Given the description of an element on the screen output the (x, y) to click on. 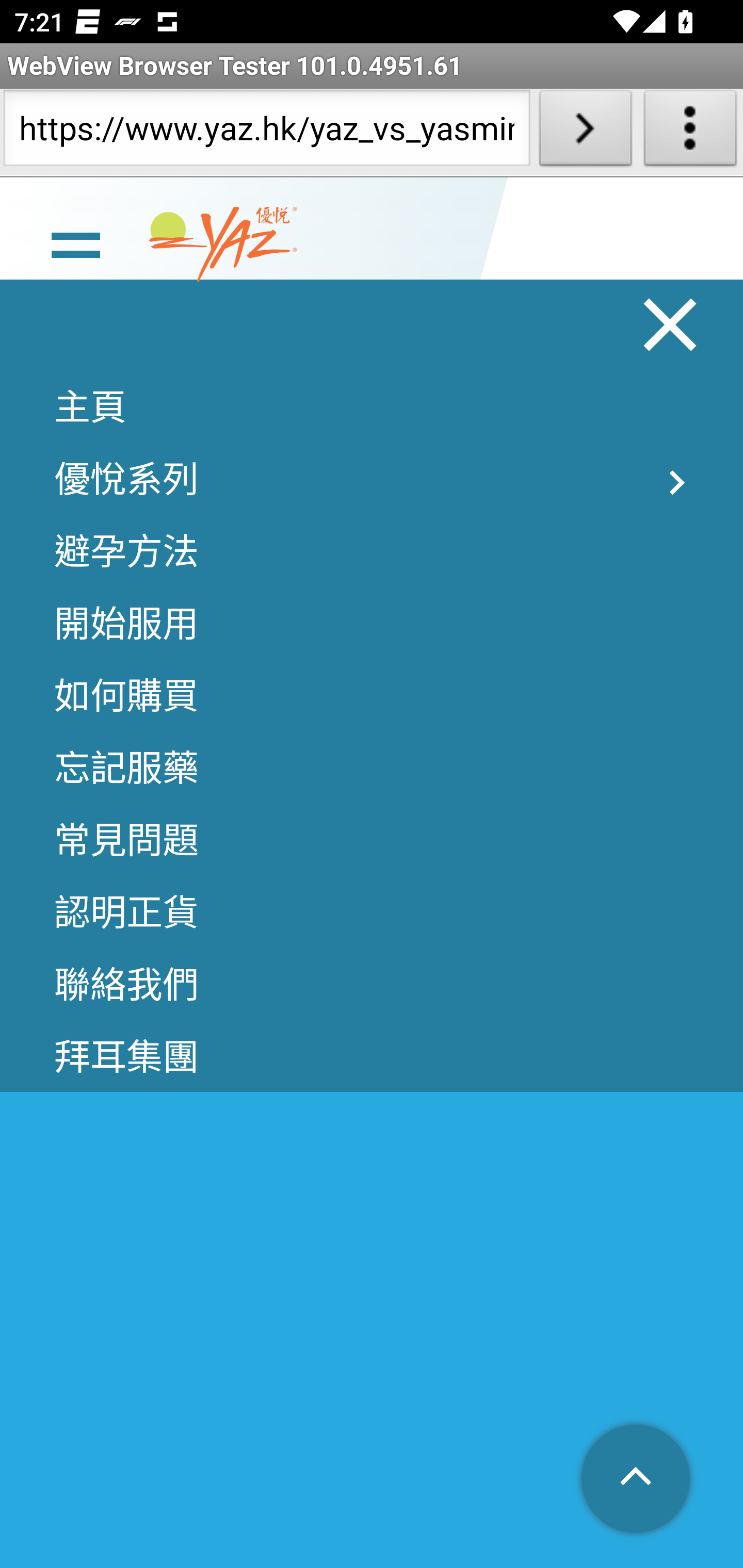
Load URL (585, 132)
About WebView (690, 132)
www.yaz (222, 244)
line Toggle burger menu (75, 245)
 Close burger menu (670, 325)
主頁 (371, 406)
優悅系列 (371, 478)
Toggle sub menu (677, 483)
避孕方法 (371, 551)
開始服用 (371, 623)
如何購買 (371, 695)
忘記服藥 (371, 767)
常見問題 (371, 840)
認明正貨 (371, 913)
聯絡我們 (371, 985)
拜耳集團 (371, 1057)
 (636, 1480)
